Given the description of an element on the screen output the (x, y) to click on. 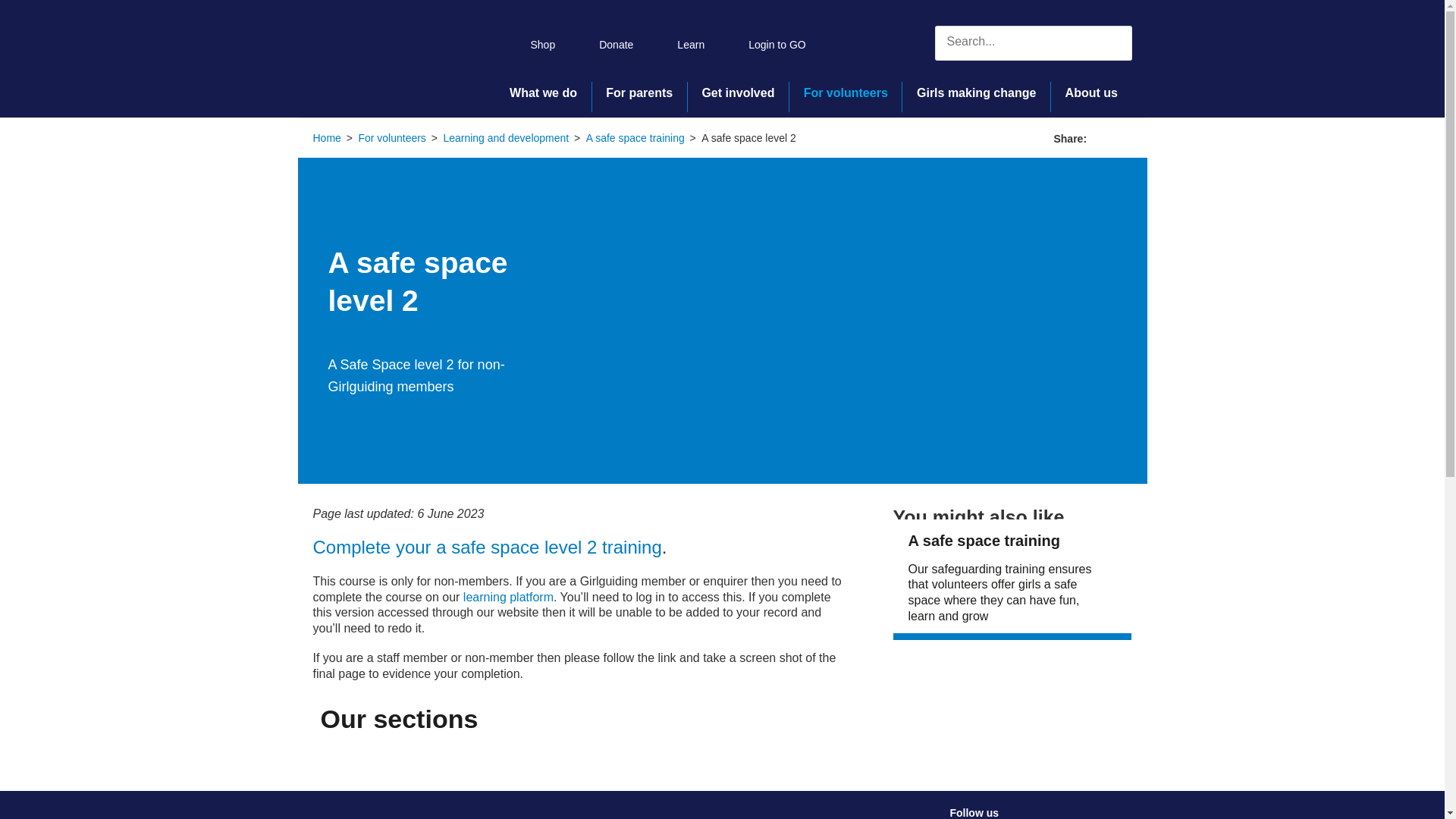
Login to GO (766, 41)
Search (1113, 42)
Search (1113, 41)
Shop (532, 41)
Donate (605, 41)
Learn (679, 41)
What we do (543, 96)
